Given the description of an element on the screen output the (x, y) to click on. 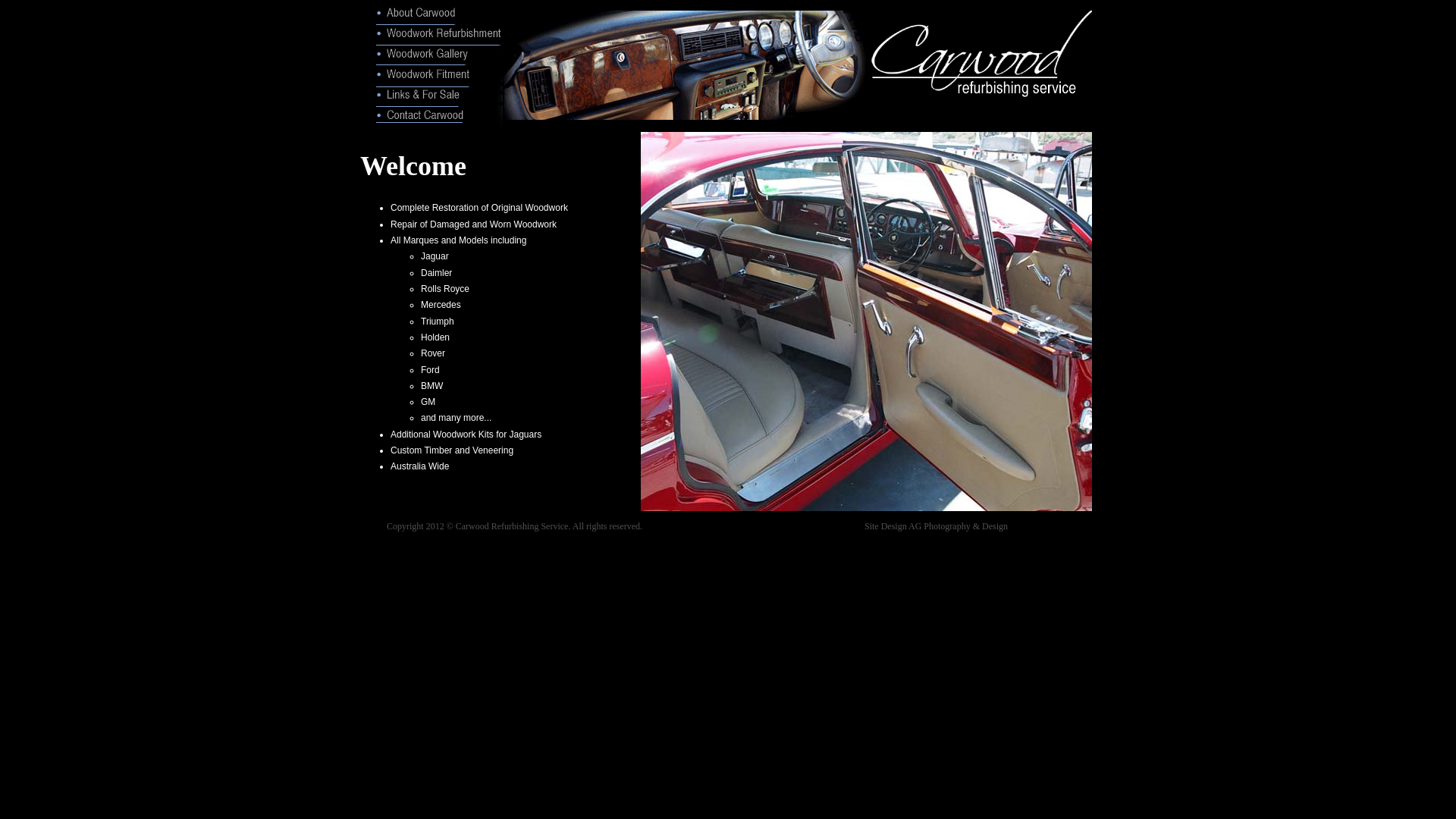
Site Design AG Photography & Design Element type: text (935, 525)
